Given the description of an element on the screen output the (x, y) to click on. 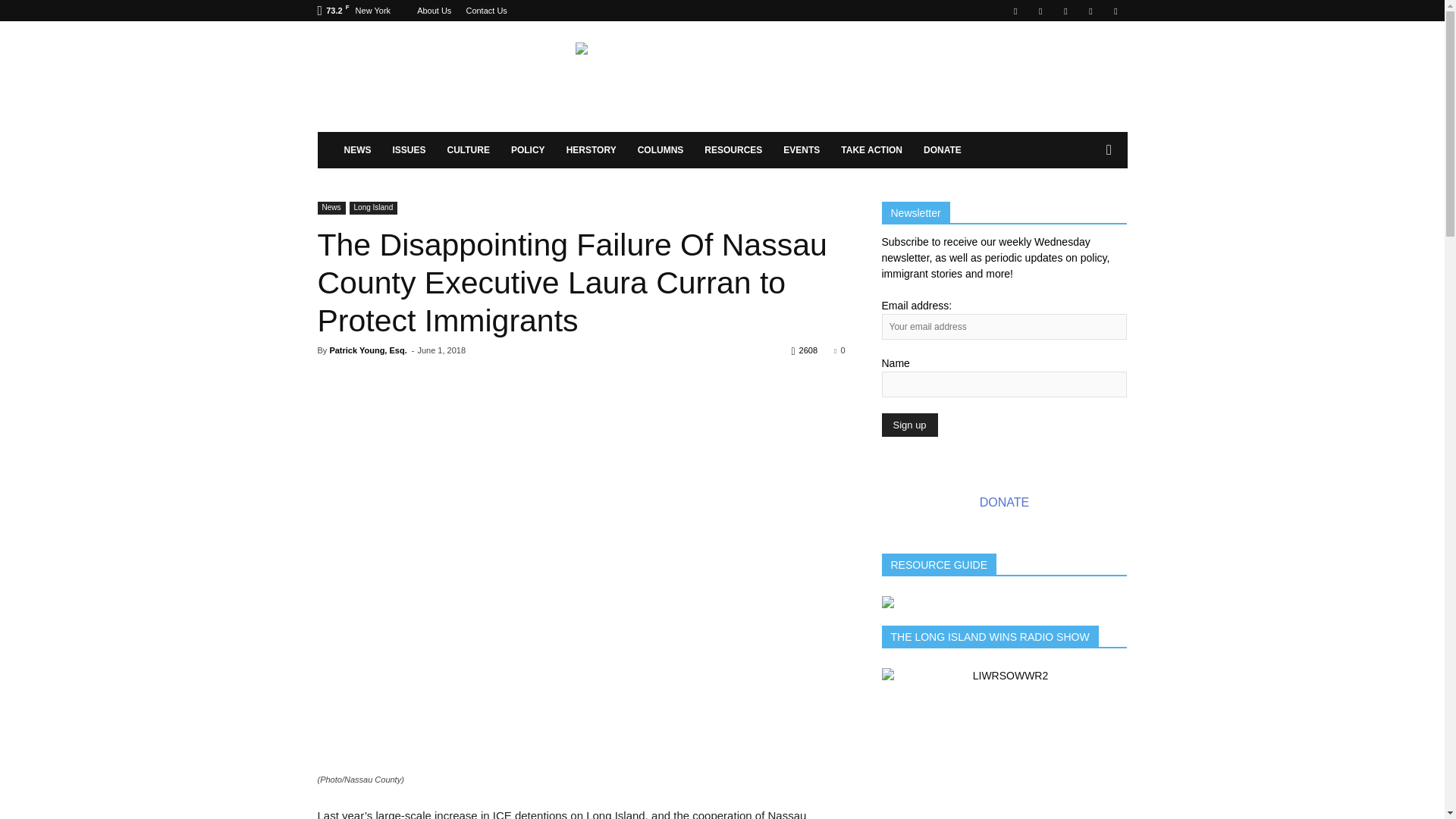
Soundcloud (1065, 10)
Youtube (1114, 10)
Sign up (908, 424)
Instagram (1040, 10)
Twitter (1090, 10)
Facebook (1015, 10)
